Given the description of an element on the screen output the (x, y) to click on. 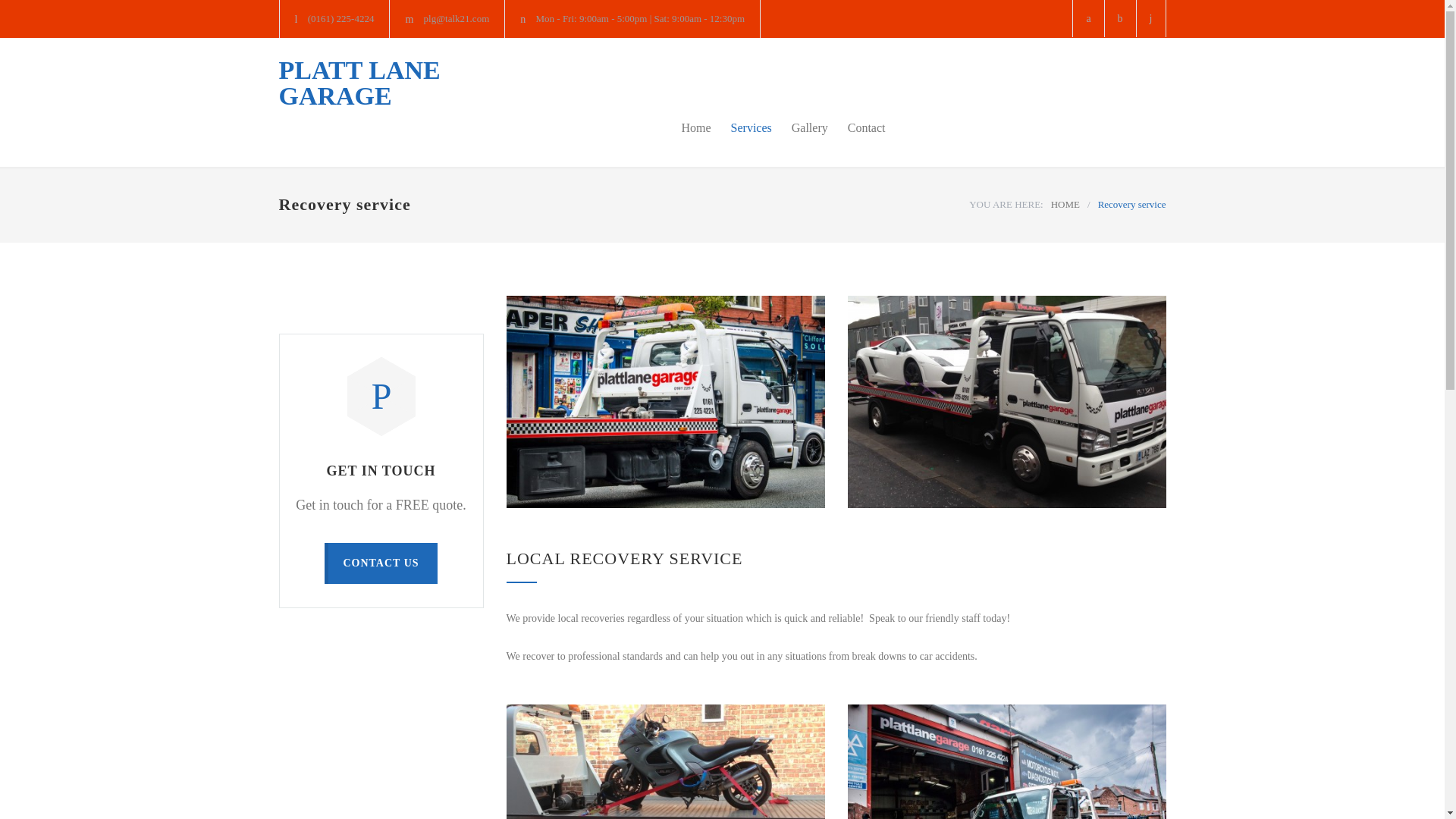
PLATT LANE GARAGE (360, 82)
Contact (856, 127)
Services (741, 127)
Platt Lane Garage  (360, 82)
Gallery (799, 127)
Home (1065, 204)
CONTACT US (380, 562)
CONTACT US (380, 562)
HOME (1065, 204)
